Given the description of an element on the screen output the (x, y) to click on. 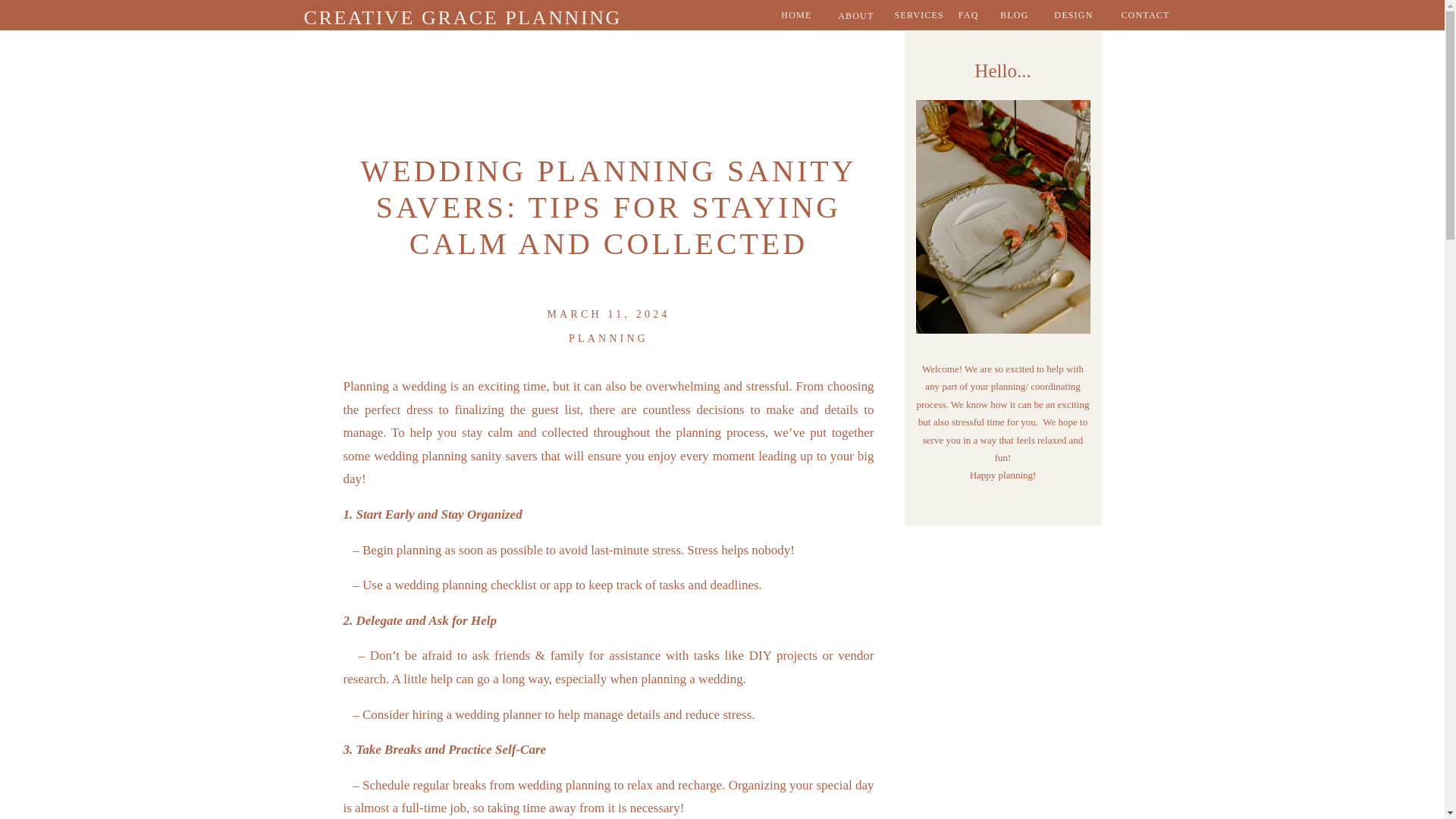
HOME (788, 14)
CONTACT (1136, 14)
PLANNING (608, 337)
DESIGN (1060, 14)
ABOUT (847, 15)
FAQ (968, 14)
SERVICES (916, 14)
BLOG (1008, 14)
